Given the description of an element on the screen output the (x, y) to click on. 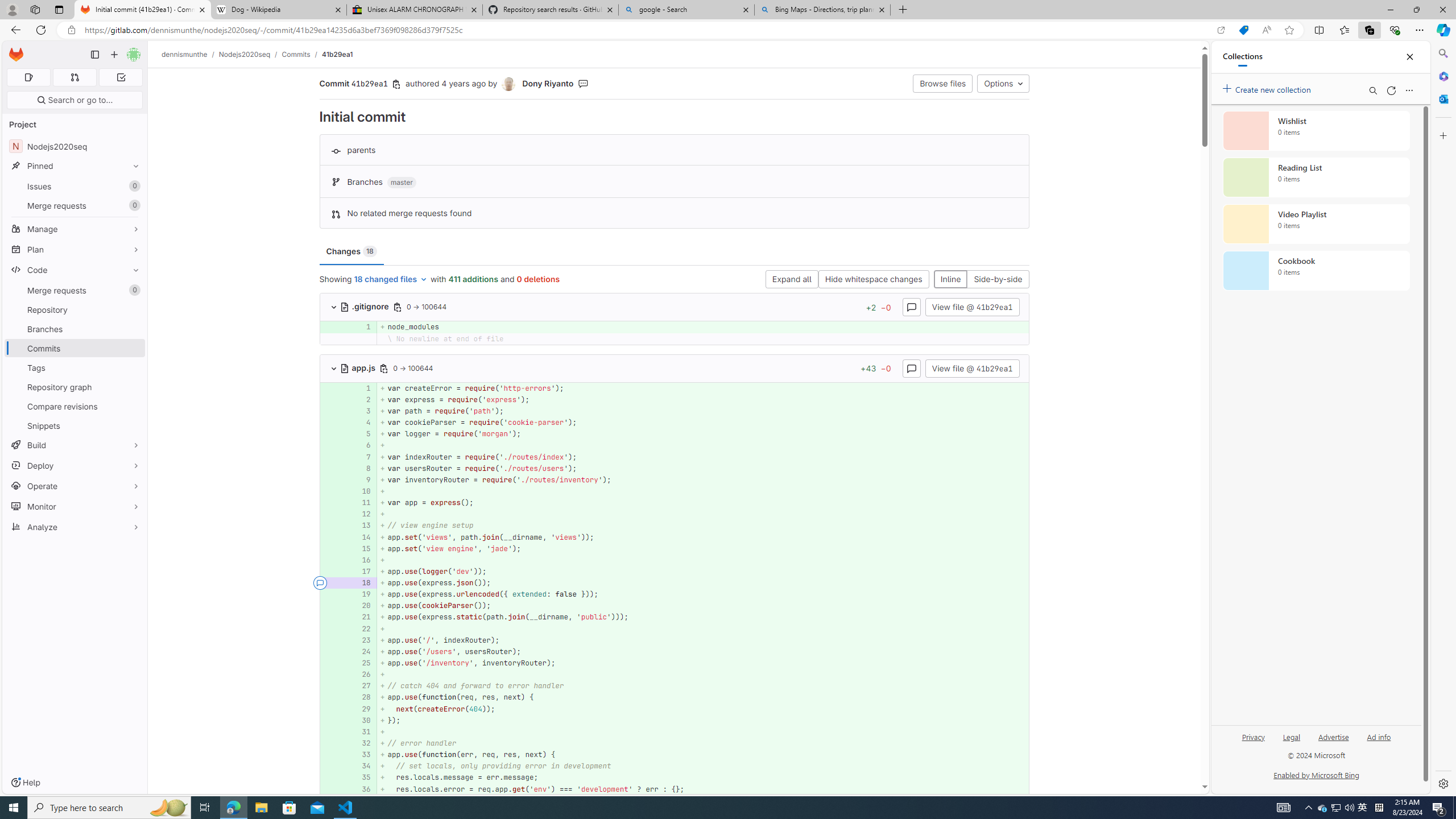
To-Do list 0 (120, 76)
AutomationID: 4a68969ef8e858229267b842dedf42ab5dde4d50_0_36 (674, 788)
33 (362, 754)
+ app.use(cookieParser());  (703, 605)
Analyze (74, 526)
21 (362, 617)
AutomationID: 4a68969ef8e858229267b842dedf42ab5dde4d50_0_16 (674, 559)
4 (360, 422)
AutomationID: 4a68969ef8e858229267b842dedf42ab5dde4d50_0_17 (674, 571)
19 (360, 594)
8 (362, 468)
Pin Compare revisions (132, 406)
Dony Riyanto's avatar (509, 83)
32 (360, 743)
Primary navigation sidebar (94, 54)
